Given the description of an element on the screen output the (x, y) to click on. 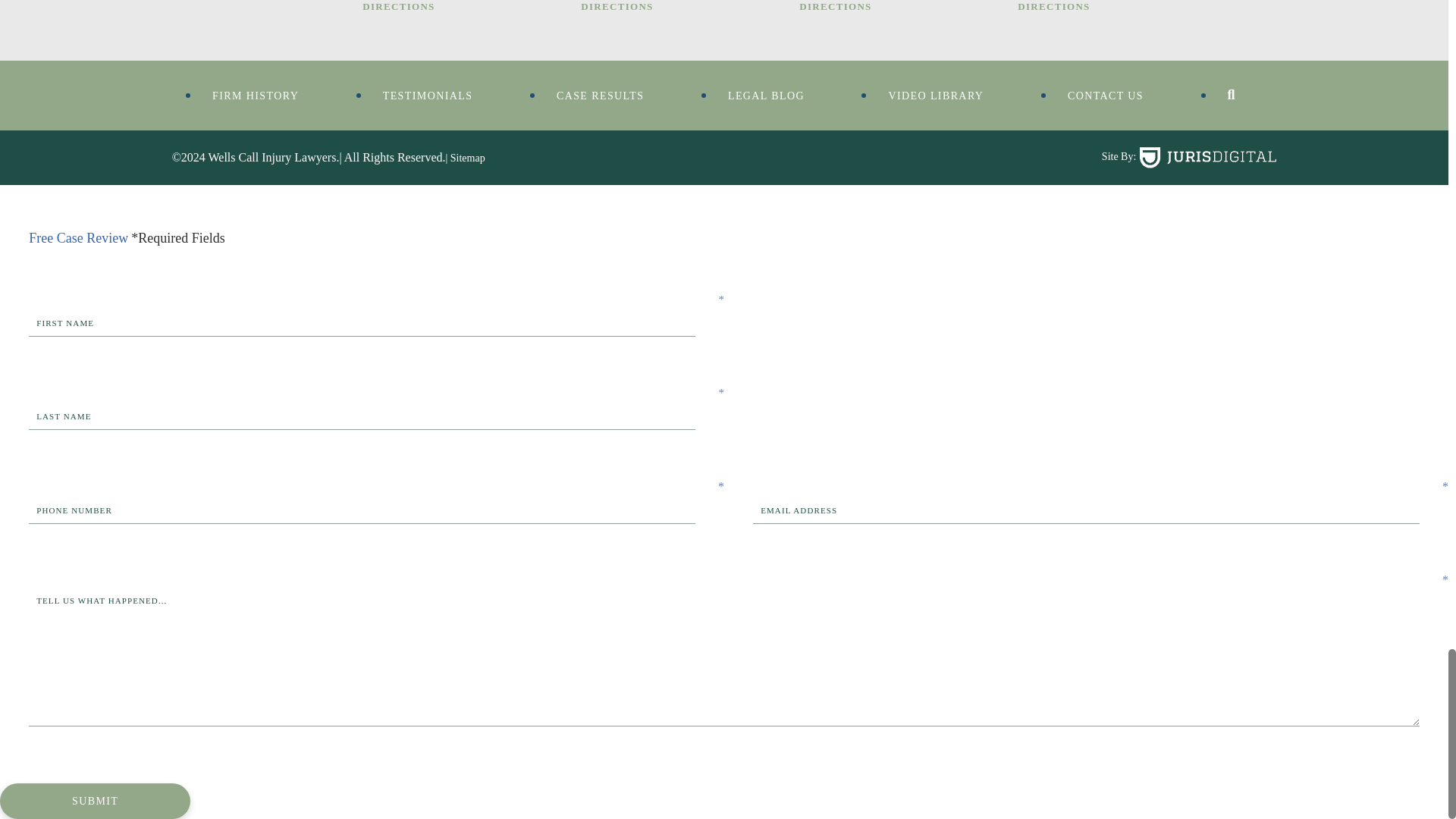
Site by Juris Digital Law Firm Marketing (1208, 156)
Wells Call Injury Lawyers's sitemap (464, 157)
